Given the description of an element on the screen output the (x, y) to click on. 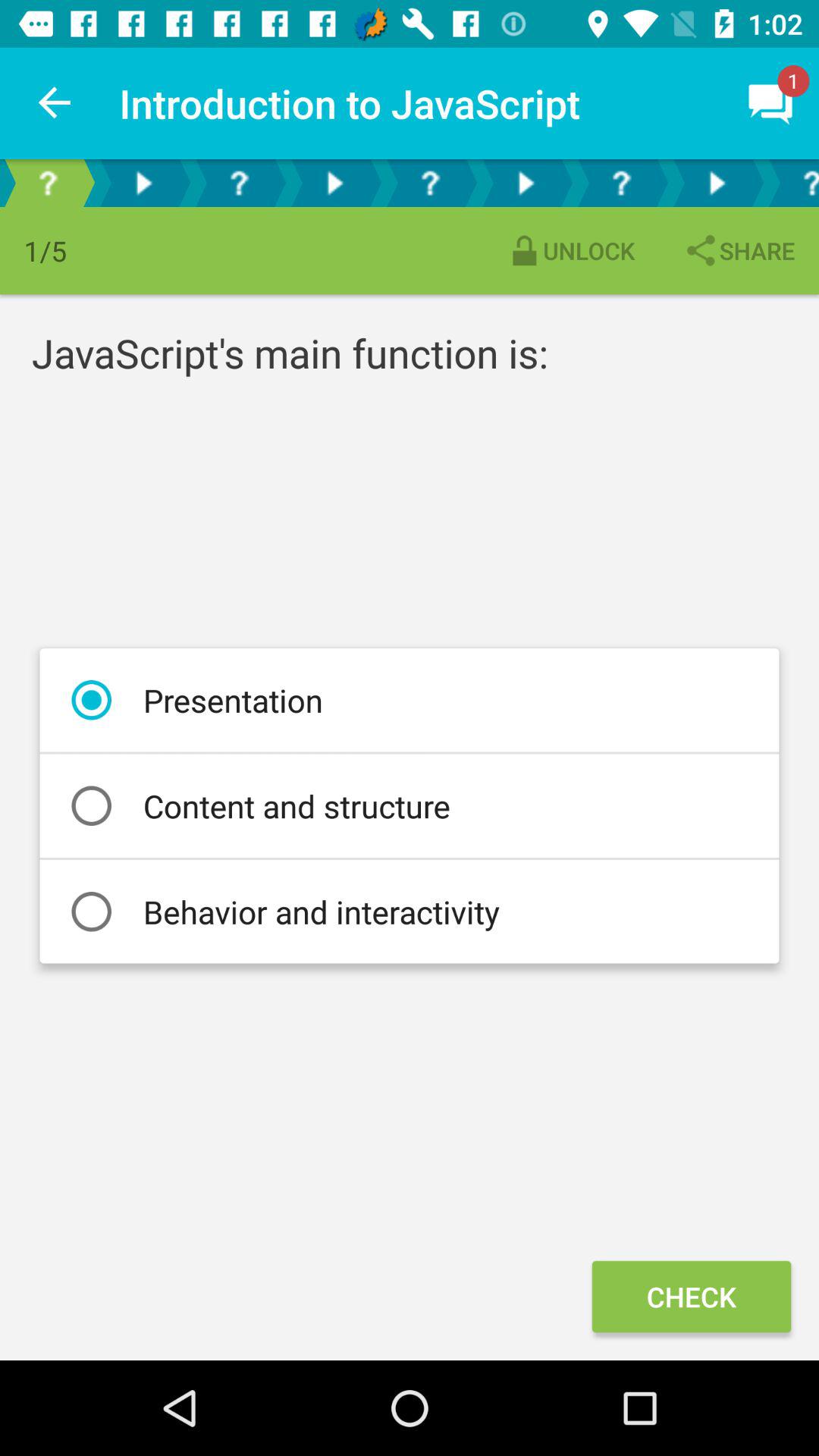
turn on icon at the bottom right corner (691, 1296)
